Given the description of an element on the screen output the (x, y) to click on. 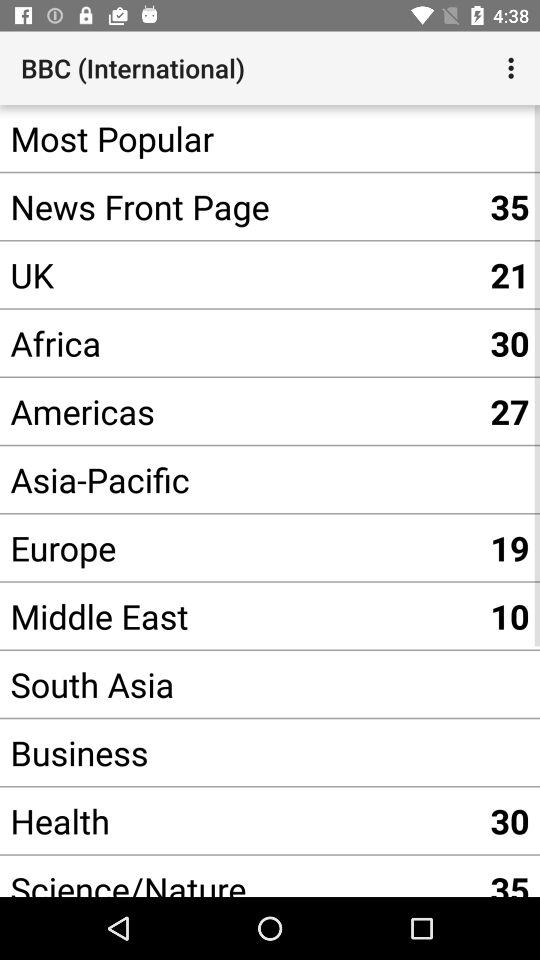
press app above 30 icon (240, 274)
